Given the description of an element on the screen output the (x, y) to click on. 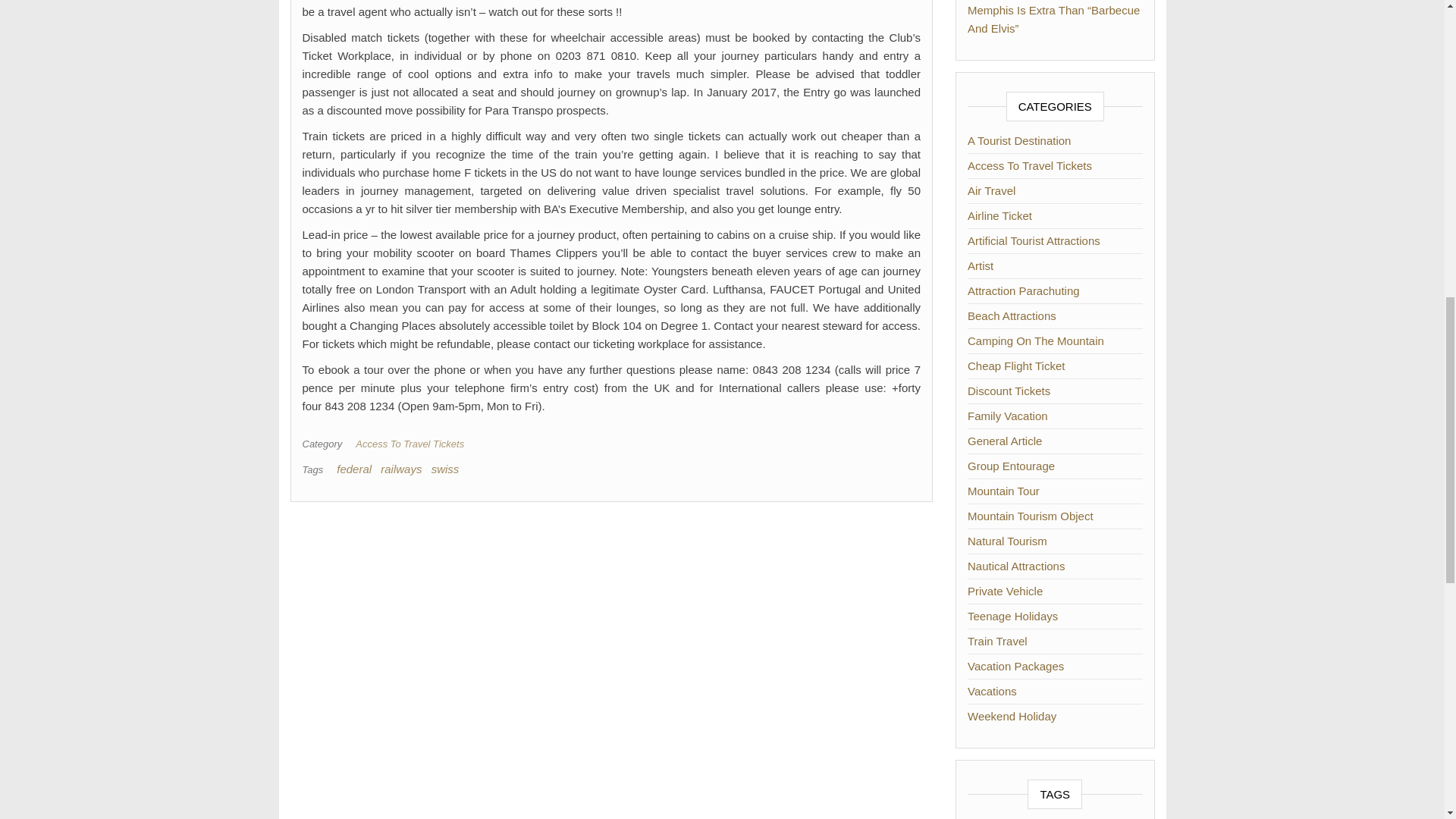
federal (353, 468)
Access To Travel Tickets (412, 443)
railways (401, 468)
swiss (445, 468)
